Given the description of an element on the screen output the (x, y) to click on. 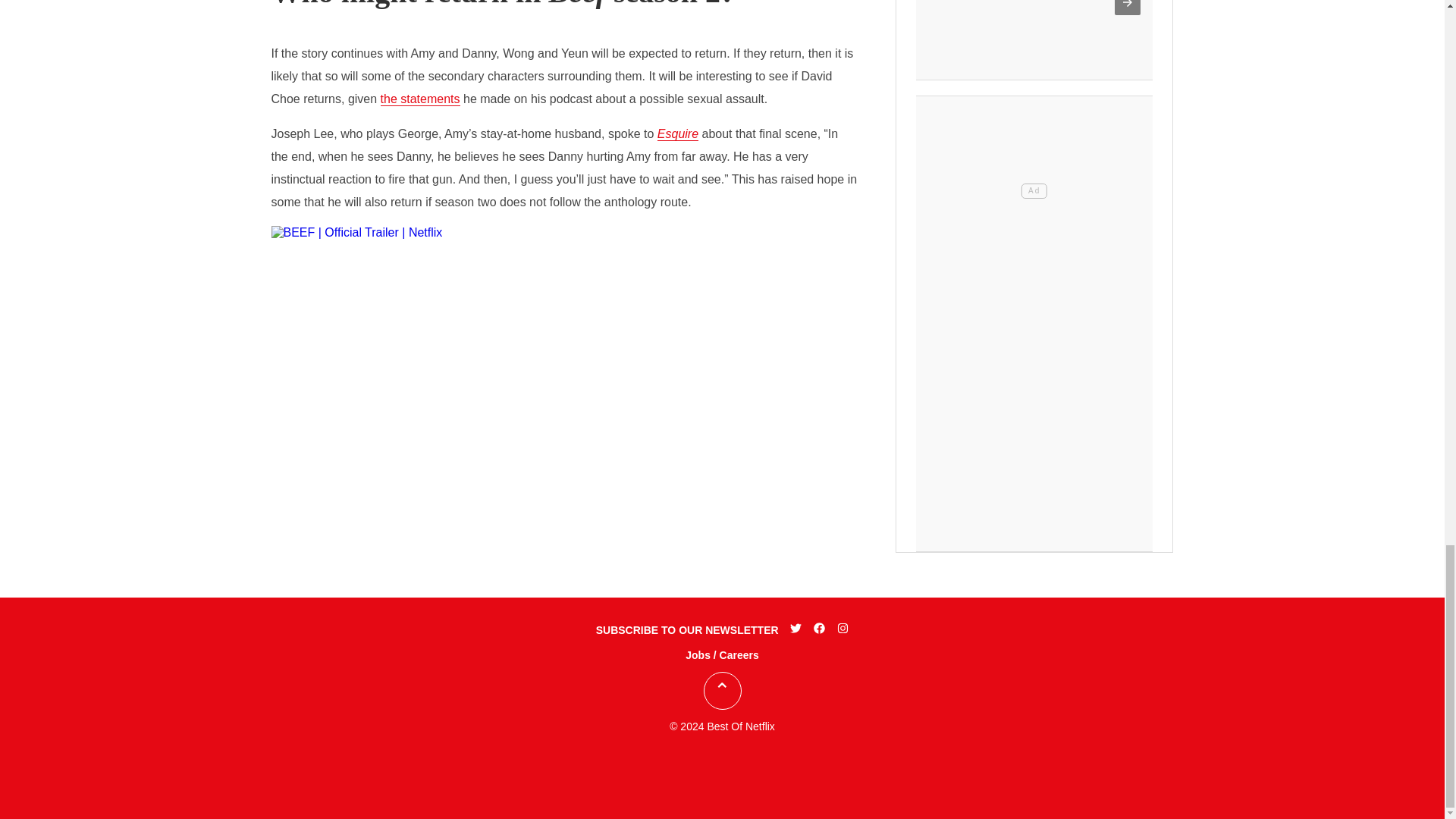
SUBSCRIBE TO OUR NEWSLETTER (687, 629)
Esquire (678, 133)
the statements (420, 99)
